Given the description of an element on the screen output the (x, y) to click on. 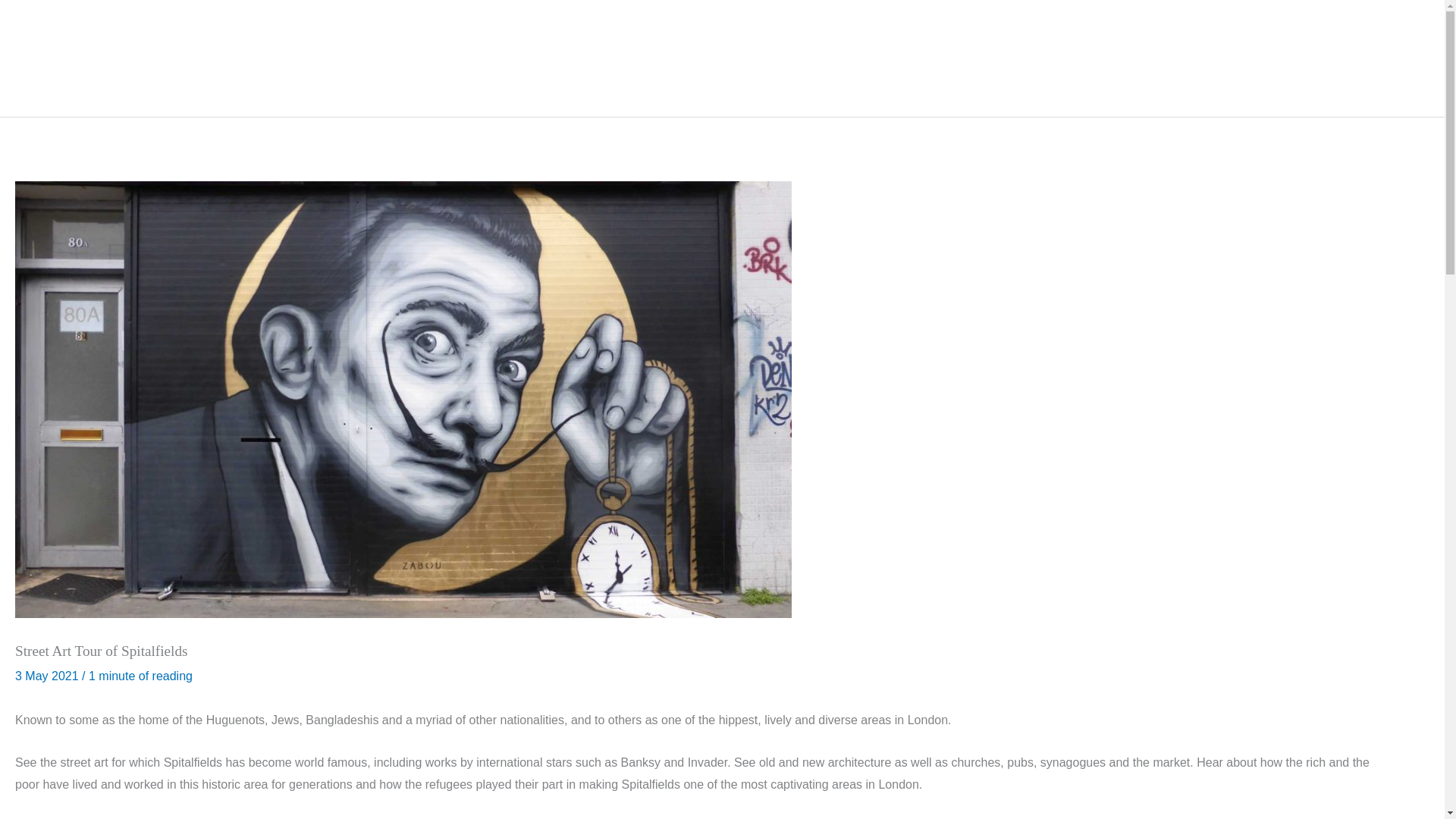
Home (445, 57)
Huguenot Story (571, 57)
Huguenot Learning (681, 57)
Huguenot Ancestry (797, 57)
Walks (494, 57)
